Given the description of an element on the screen output the (x, y) to click on. 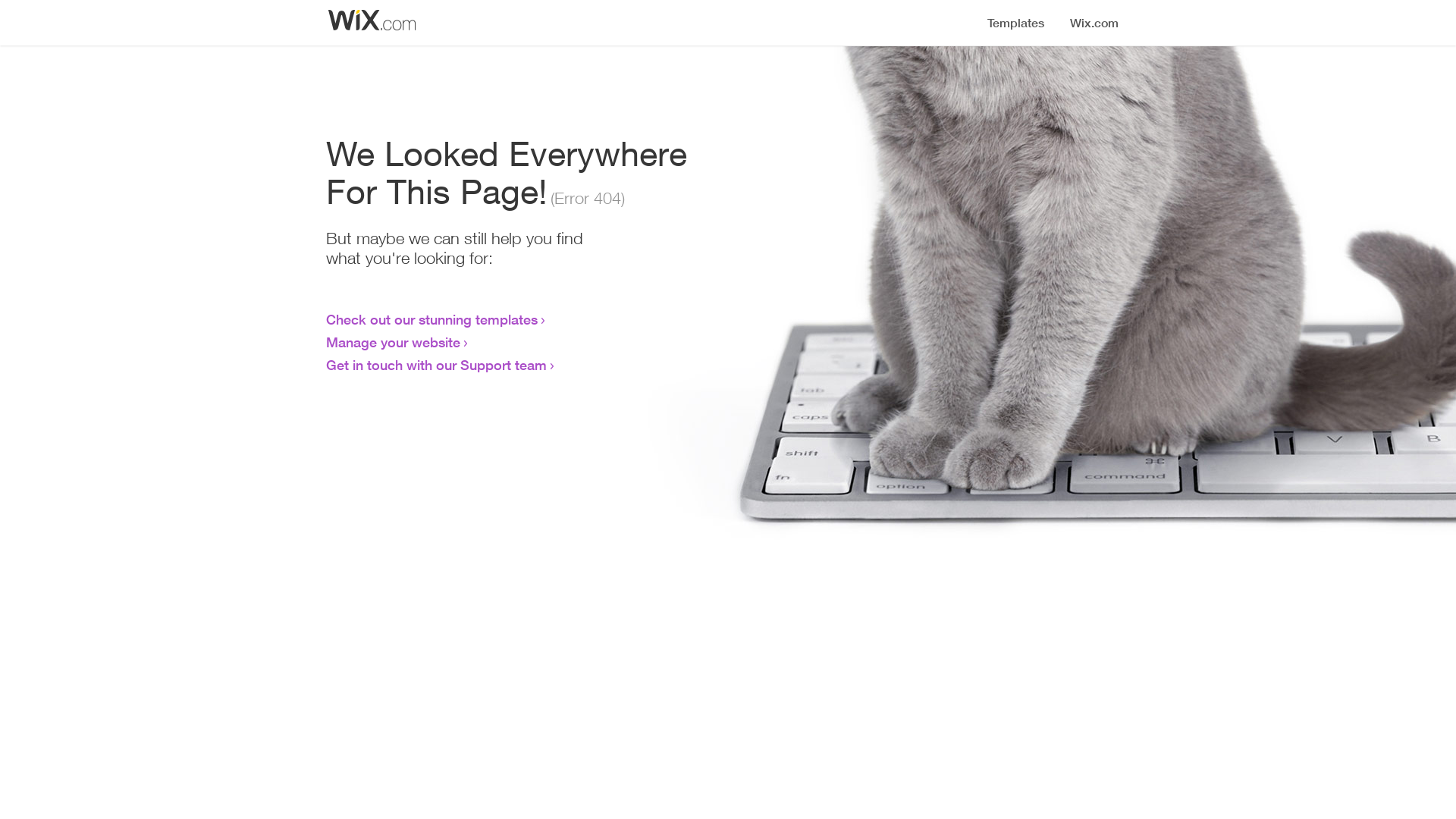
Manage your website Element type: text (393, 341)
Check out our stunning templates Element type: text (431, 318)
Get in touch with our Support team Element type: text (436, 364)
